Given the description of an element on the screen output the (x, y) to click on. 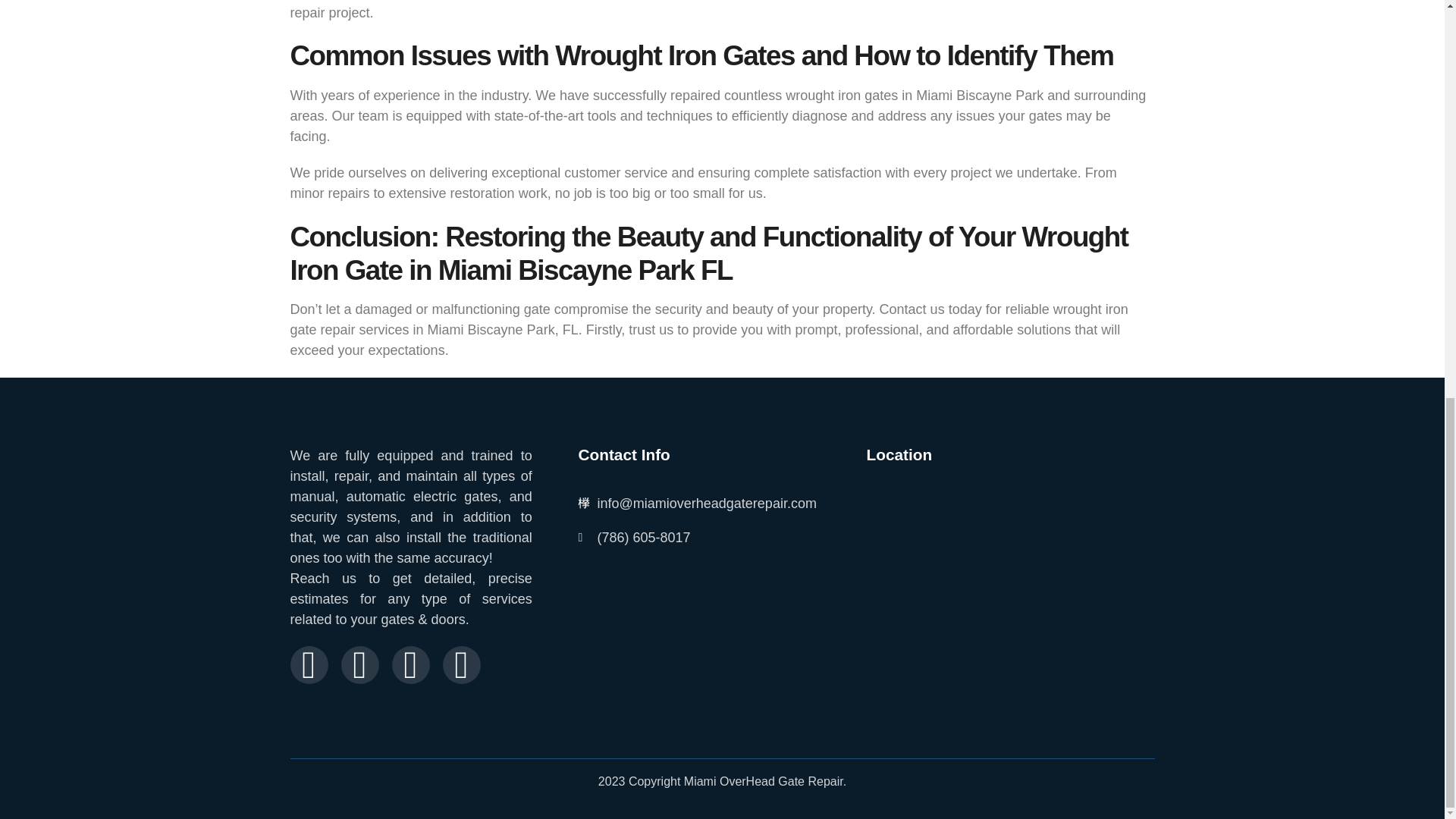
Miami Overheard Gate Repair (1010, 574)
